Given the description of an element on the screen output the (x, y) to click on. 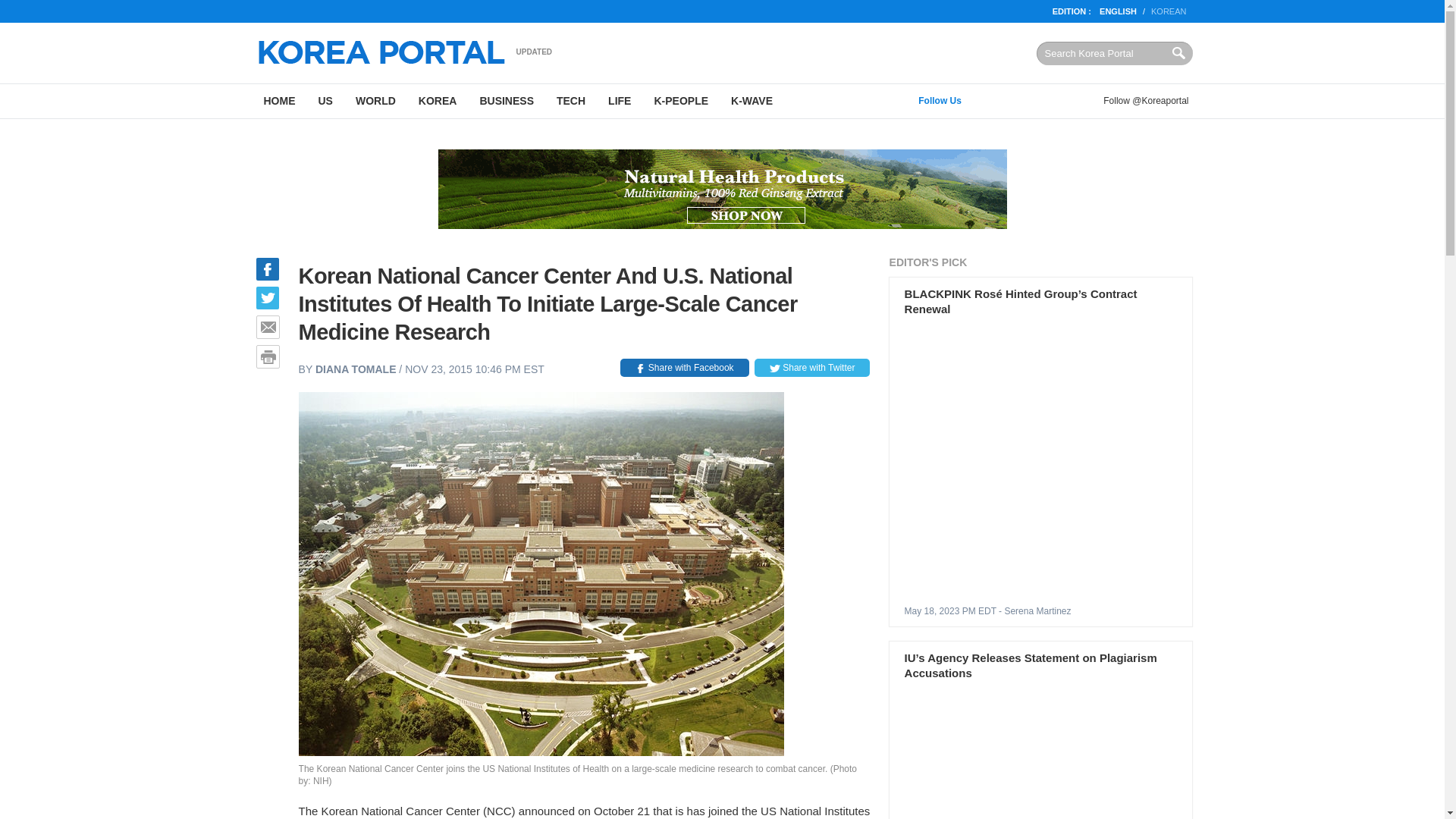
K-PEOPLE (680, 100)
KOREAN (1168, 10)
KOREA (437, 100)
BUSINESS (505, 100)
Share with Facebook (684, 367)
ENGLISH (1118, 10)
DIANA TOMALE (355, 369)
Share with Twitter (811, 367)
HOME (278, 100)
K-WAVE (751, 100)
LIFE (619, 100)
TECH (570, 100)
WORLD (375, 100)
US (324, 100)
